Given the description of an element on the screen output the (x, y) to click on. 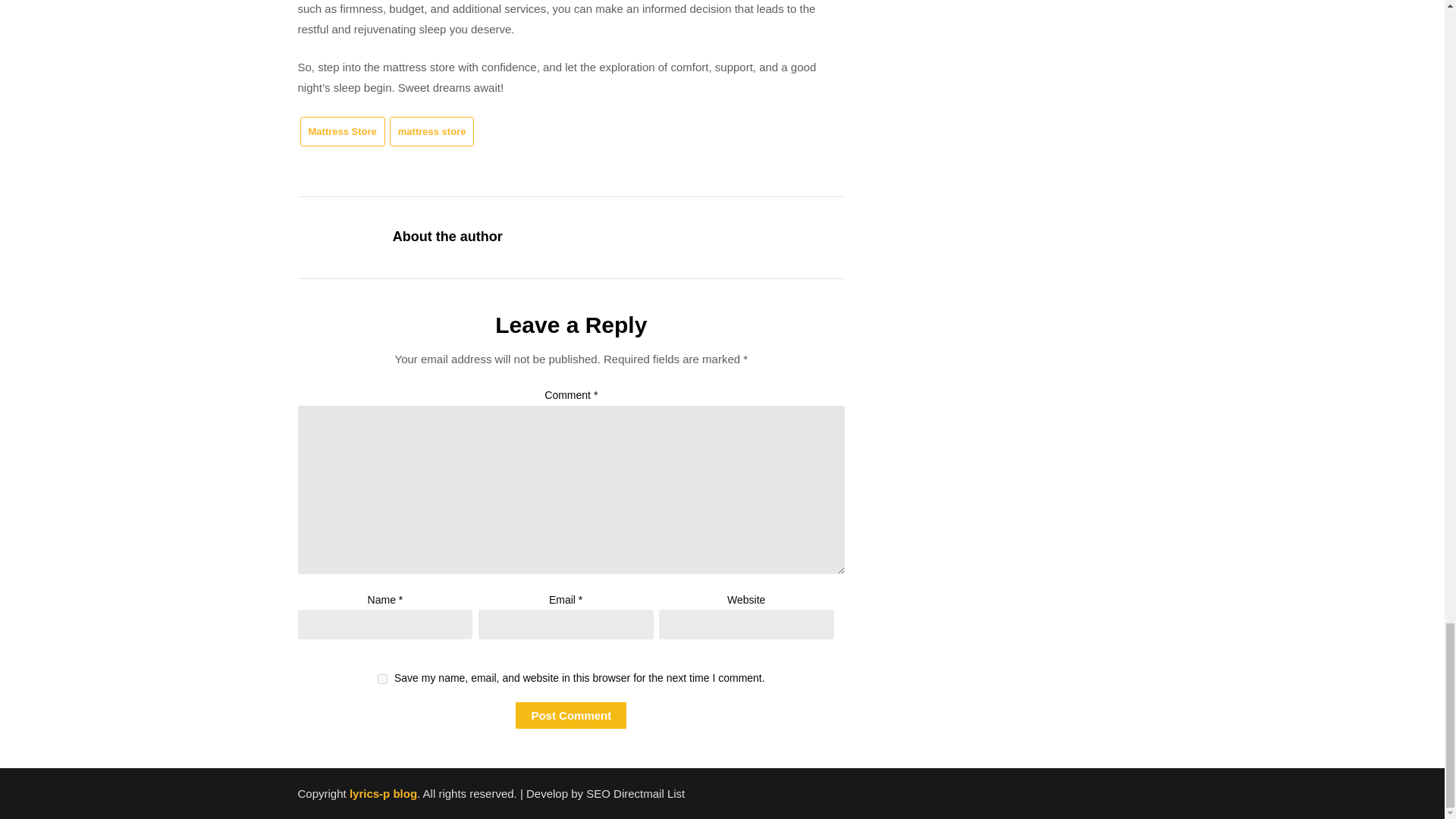
Post Comment (570, 714)
Post Comment (570, 714)
yes (382, 678)
Mattress Store (342, 131)
mattress store (432, 131)
